Given the description of an element on the screen output the (x, y) to click on. 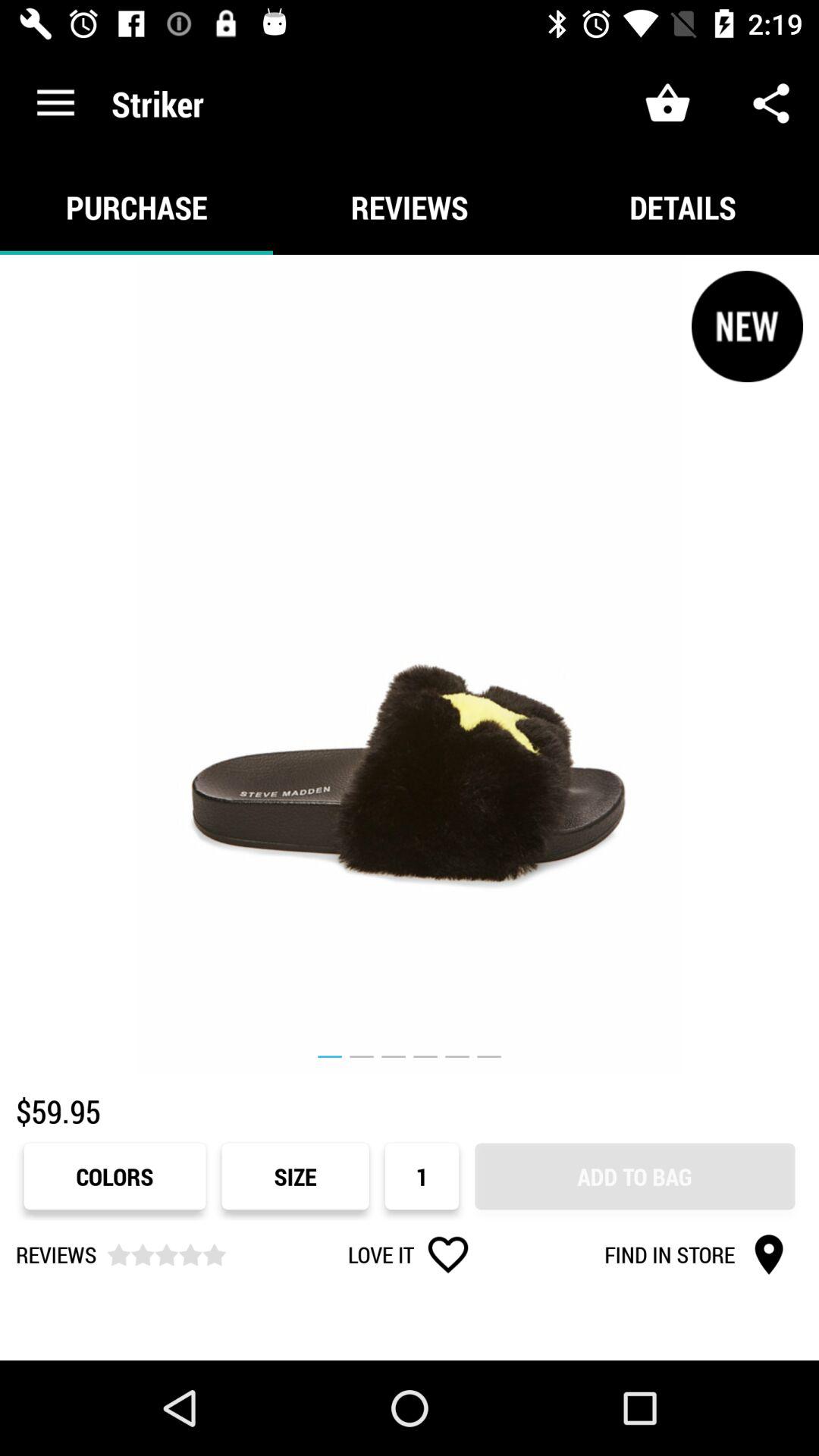
select the icon at the center (409, 663)
